Given the description of an element on the screen output the (x, y) to click on. 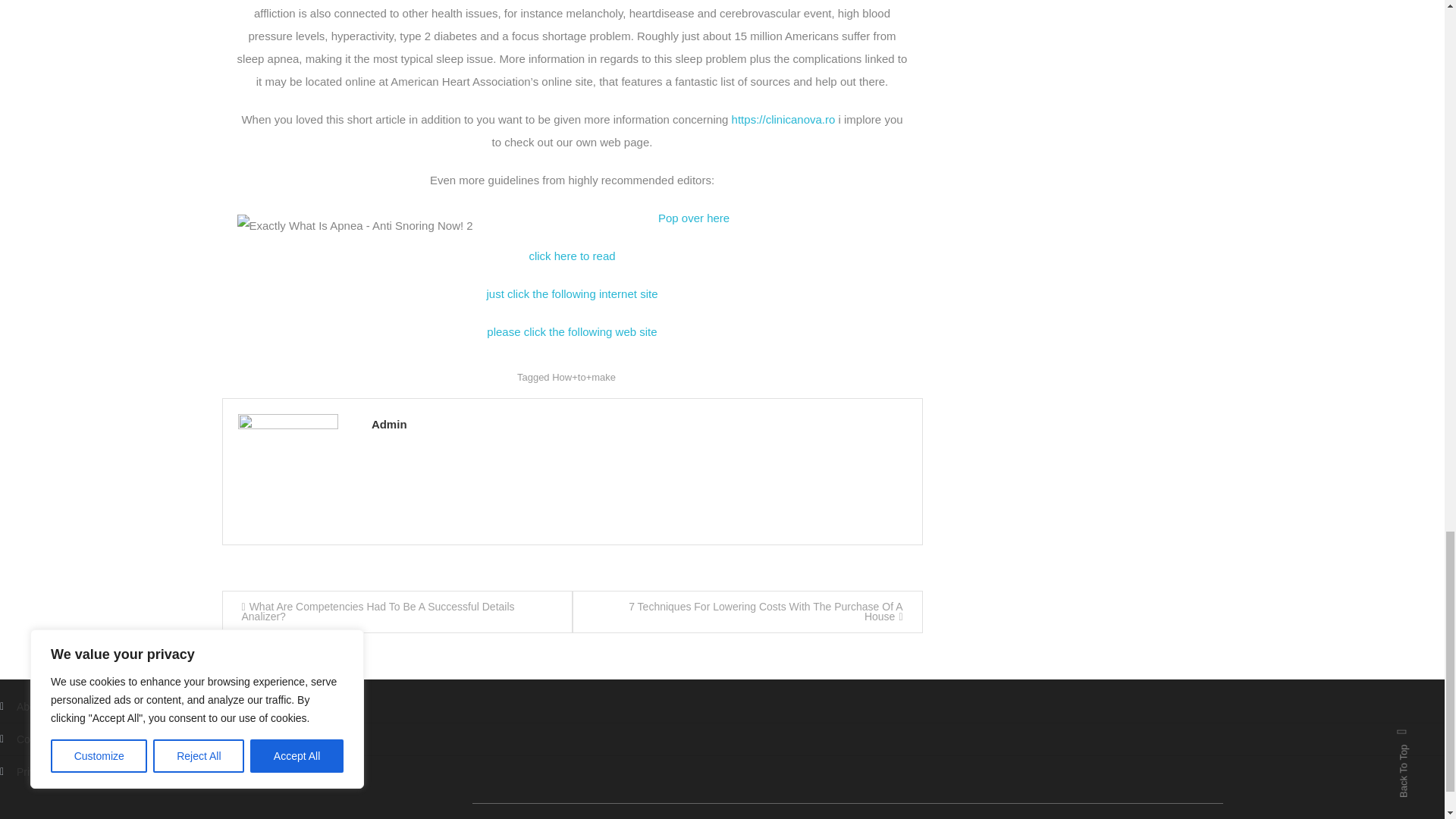
7 Techniques For Lowering Costs With The Purchase Of A House (746, 611)
Pop over here (693, 217)
please click the following web site (571, 331)
click here to read (571, 255)
just click the following internet site (572, 293)
Admin (639, 424)
